Given the description of an element on the screen output the (x, y) to click on. 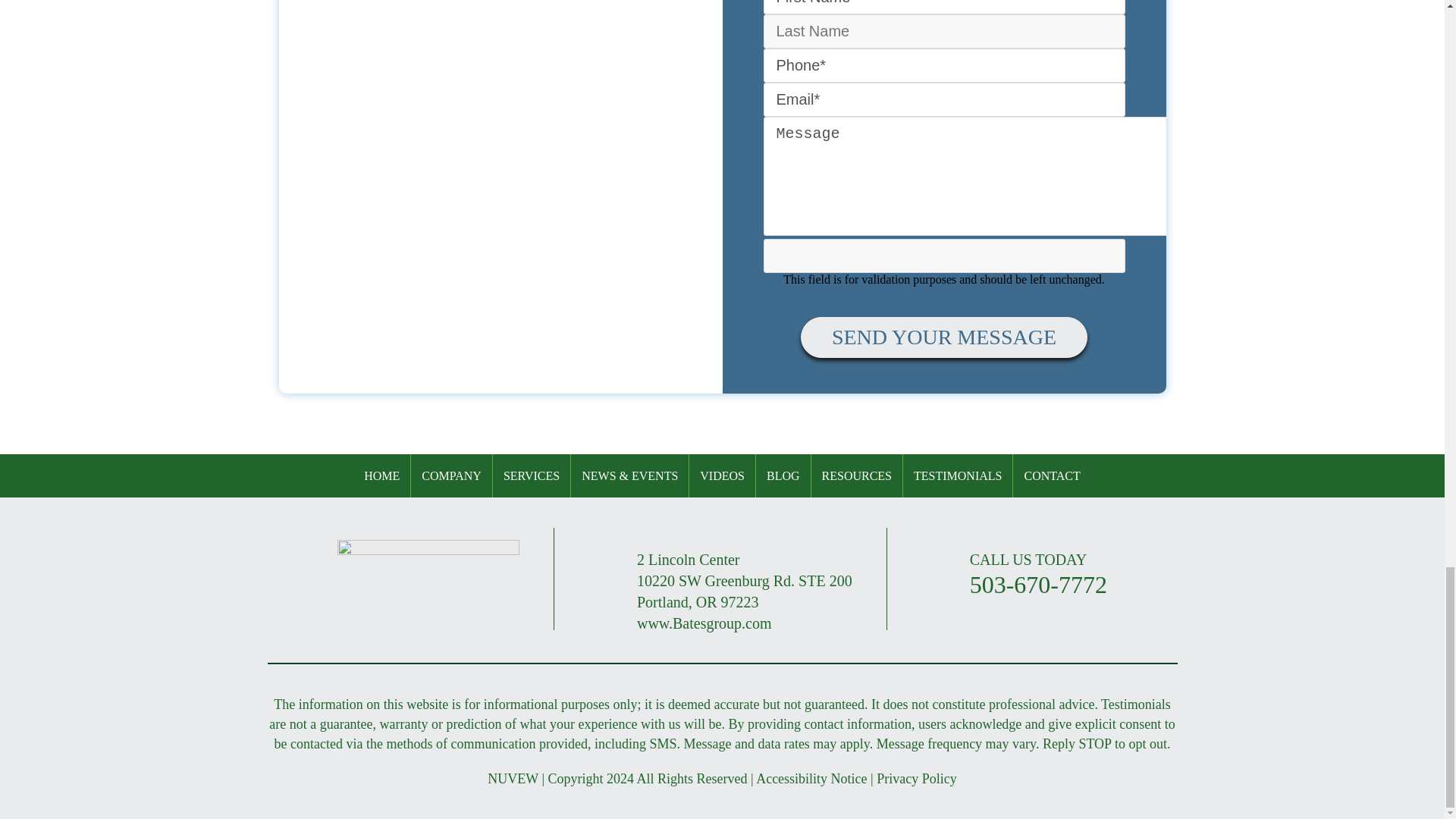
Send Your Message (943, 336)
